Given the description of an element on the screen output the (x, y) to click on. 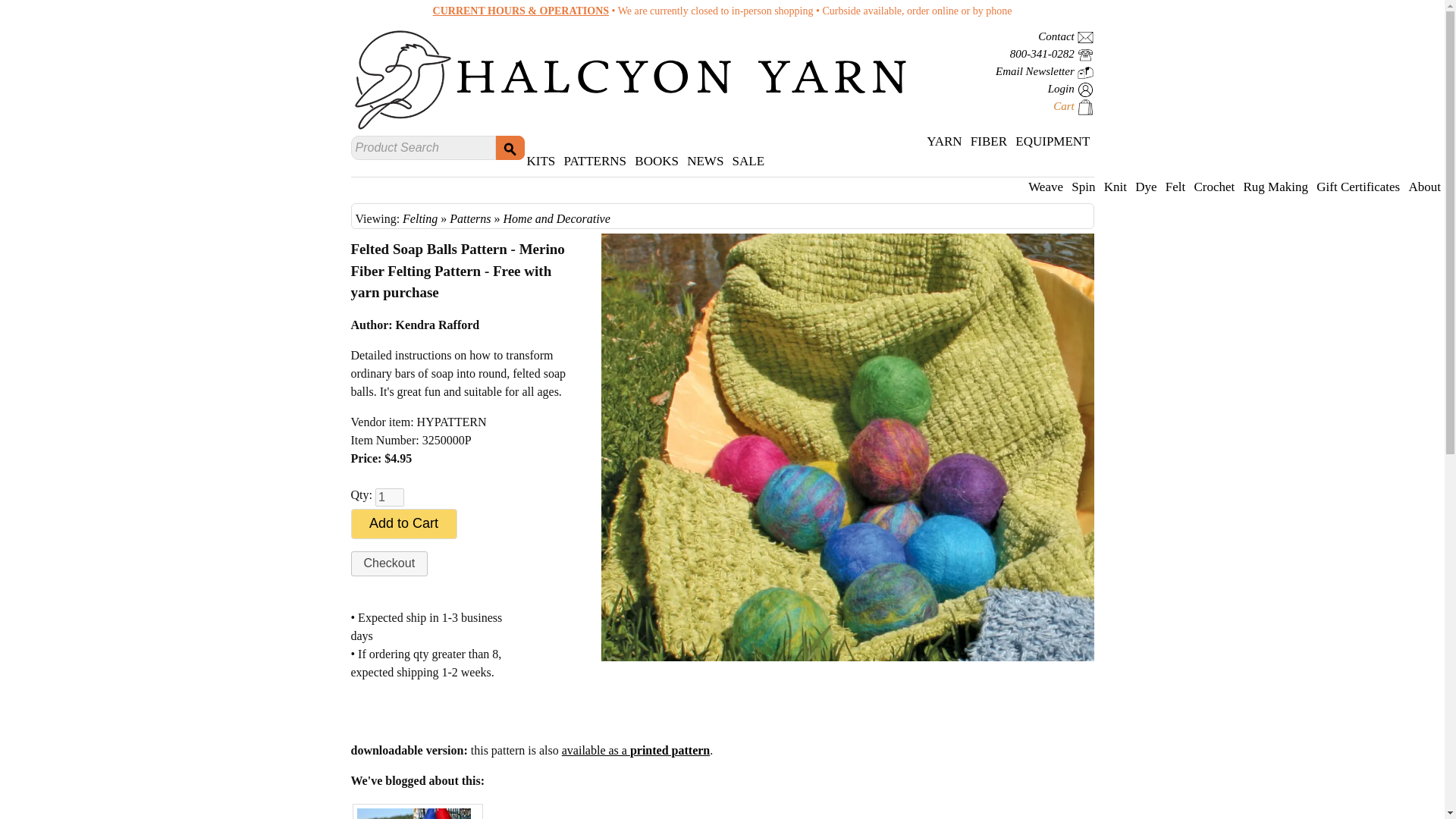
Felted Soap Balls Pattern - Merino Fiber  (846, 241)
Product Search (422, 147)
Cart (1072, 106)
Schools Out For Summer (413, 814)
EQUIPMENT (1053, 140)
YARN (944, 140)
email halcyon yarn (1064, 36)
halcyon yarn homepage (681, 78)
FIBER (989, 140)
Add to Cart (403, 523)
